Given the description of an element on the screen output the (x, y) to click on. 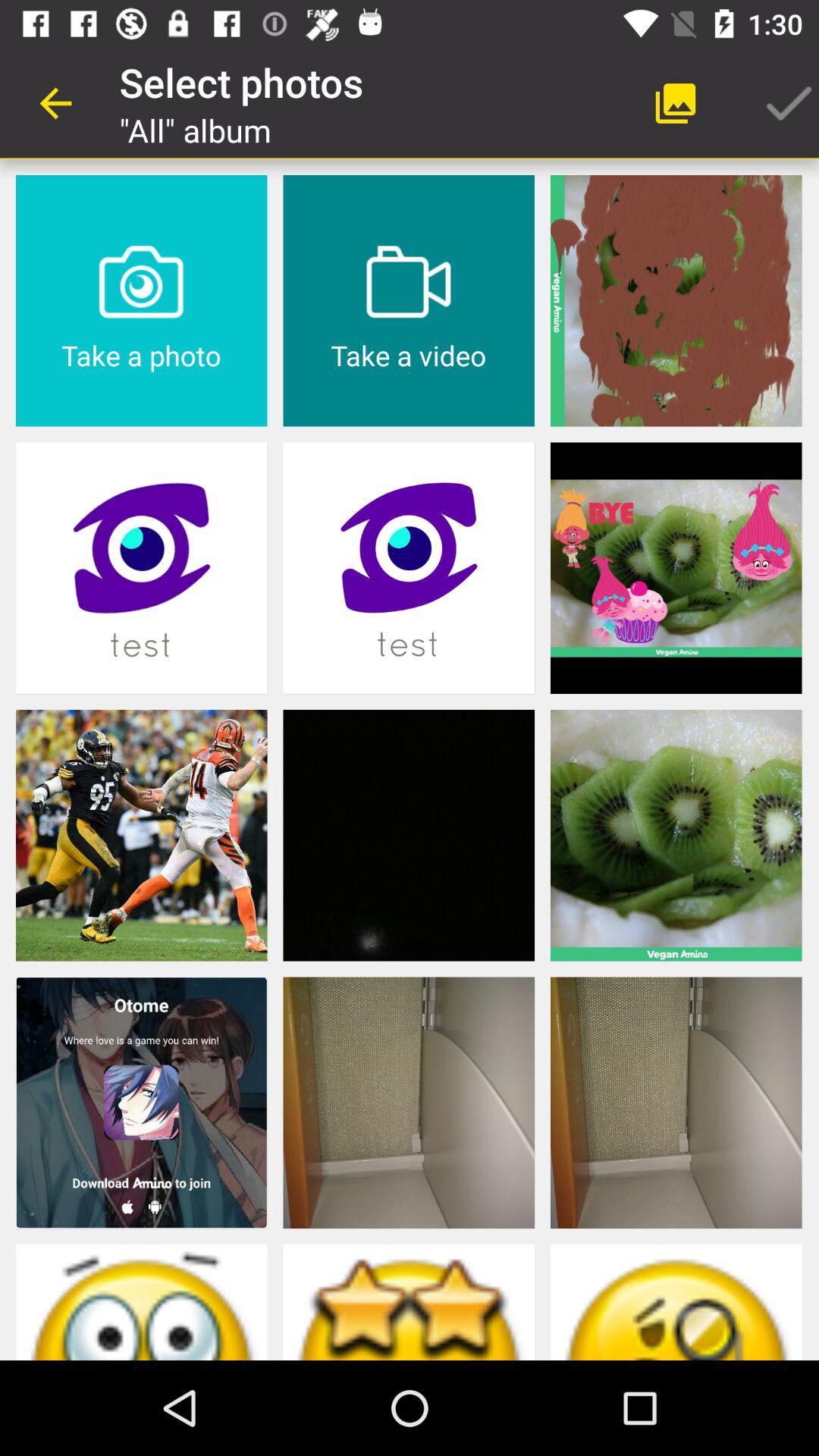
turn on the app next to the select photos item (675, 103)
